Given the description of an element on the screen output the (x, y) to click on. 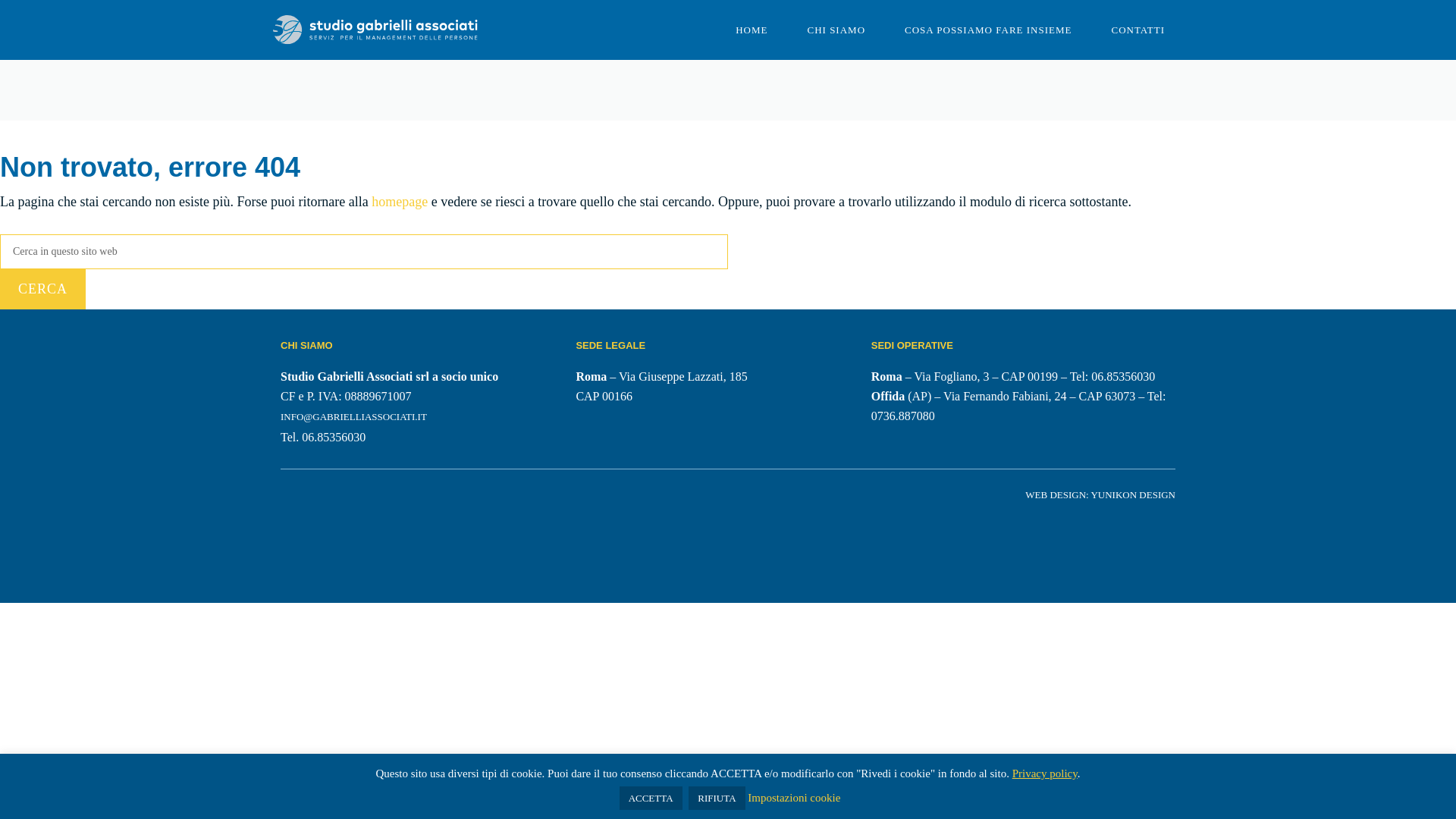
CONTATTI (1137, 29)
COSA POSSIAMO FARE INSIEME (987, 29)
WEB DESIGN: YUNIKON DESIGN (1099, 494)
Cerca (42, 289)
Gabrielli Associati (375, 29)
homepage (399, 201)
Cerca (42, 289)
CHI SIAMO (836, 29)
HOME (751, 29)
Gabrielli Associati (375, 30)
Cerca (42, 289)
